Given the description of an element on the screen output the (x, y) to click on. 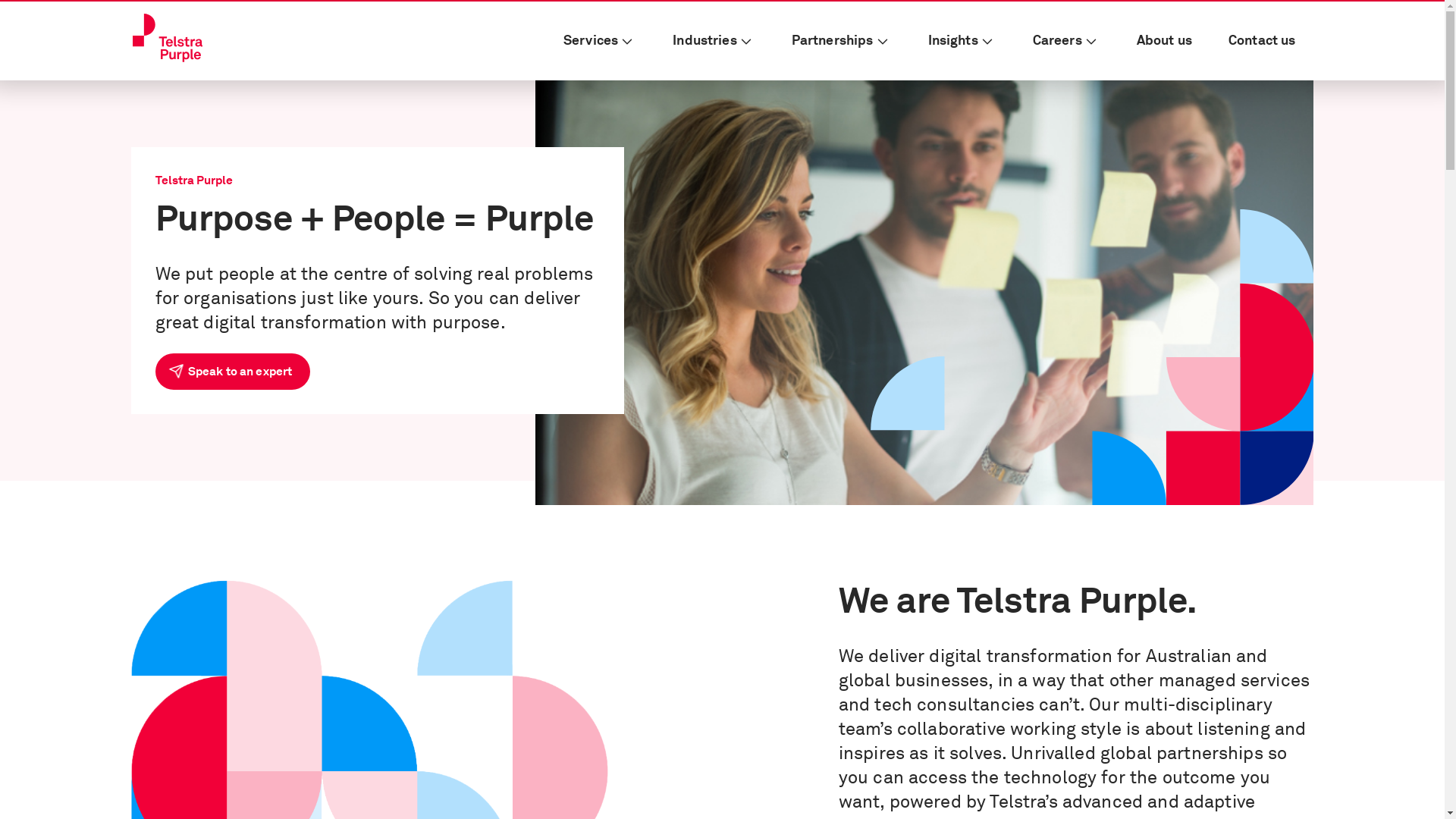
Insights Element type: text (962, 40)
Partnerships Element type: text (841, 40)
Careers Element type: text (1066, 40)
Speak to an expert Element type: text (232, 371)
Return to home button Element type: text (166, 37)
Contact us Element type: text (1262, 40)
About us Element type: text (1164, 40)
Industries Element type: text (713, 40)
Services Element type: text (599, 40)
